Given the description of an element on the screen output the (x, y) to click on. 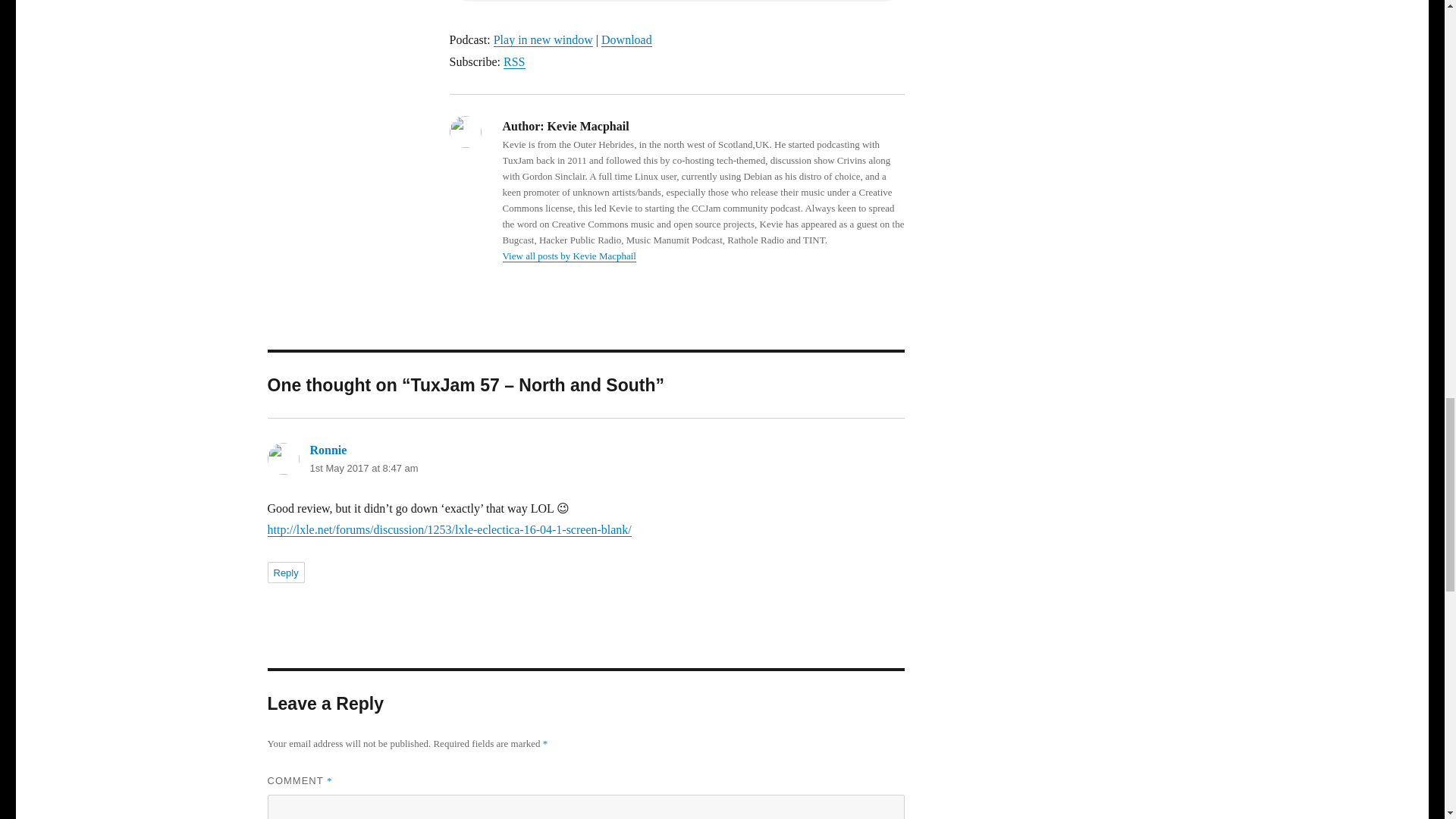
View all posts by Kevie Macphail (568, 255)
Play in new window (542, 39)
RSS (513, 61)
Subscribe via RSS (513, 61)
Play in new window (542, 39)
Download (626, 39)
Download (626, 39)
